Given the description of an element on the screen output the (x, y) to click on. 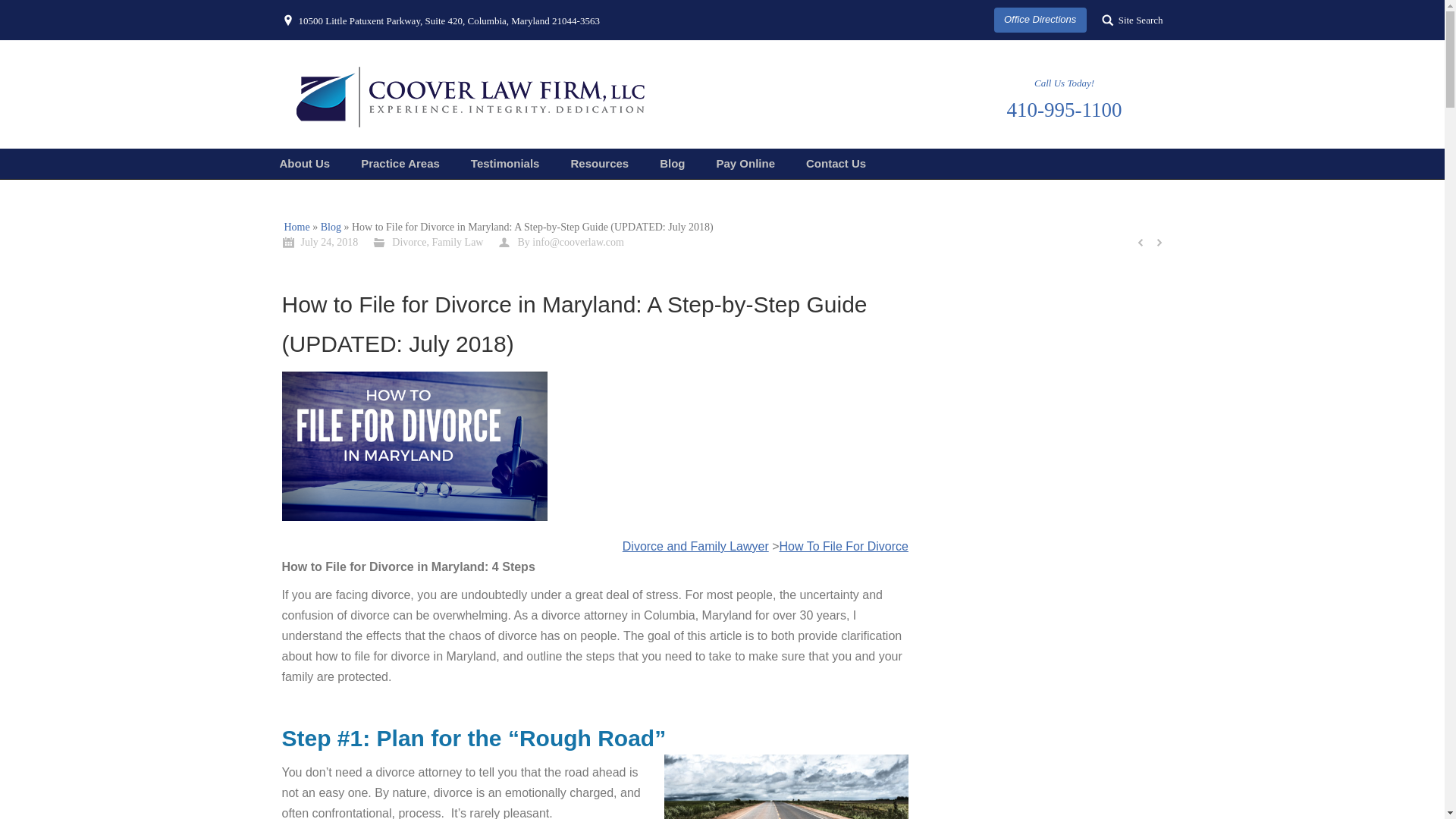
Site Search (1132, 19)
Resources (598, 164)
1:48 pm (320, 241)
Practice Areas (400, 164)
Contact Us (835, 164)
Office Directions (1040, 19)
About Us (305, 164)
Pay Online (746, 164)
Blog (672, 164)
Testimonials (505, 164)
